Given the description of an element on the screen output the (x, y) to click on. 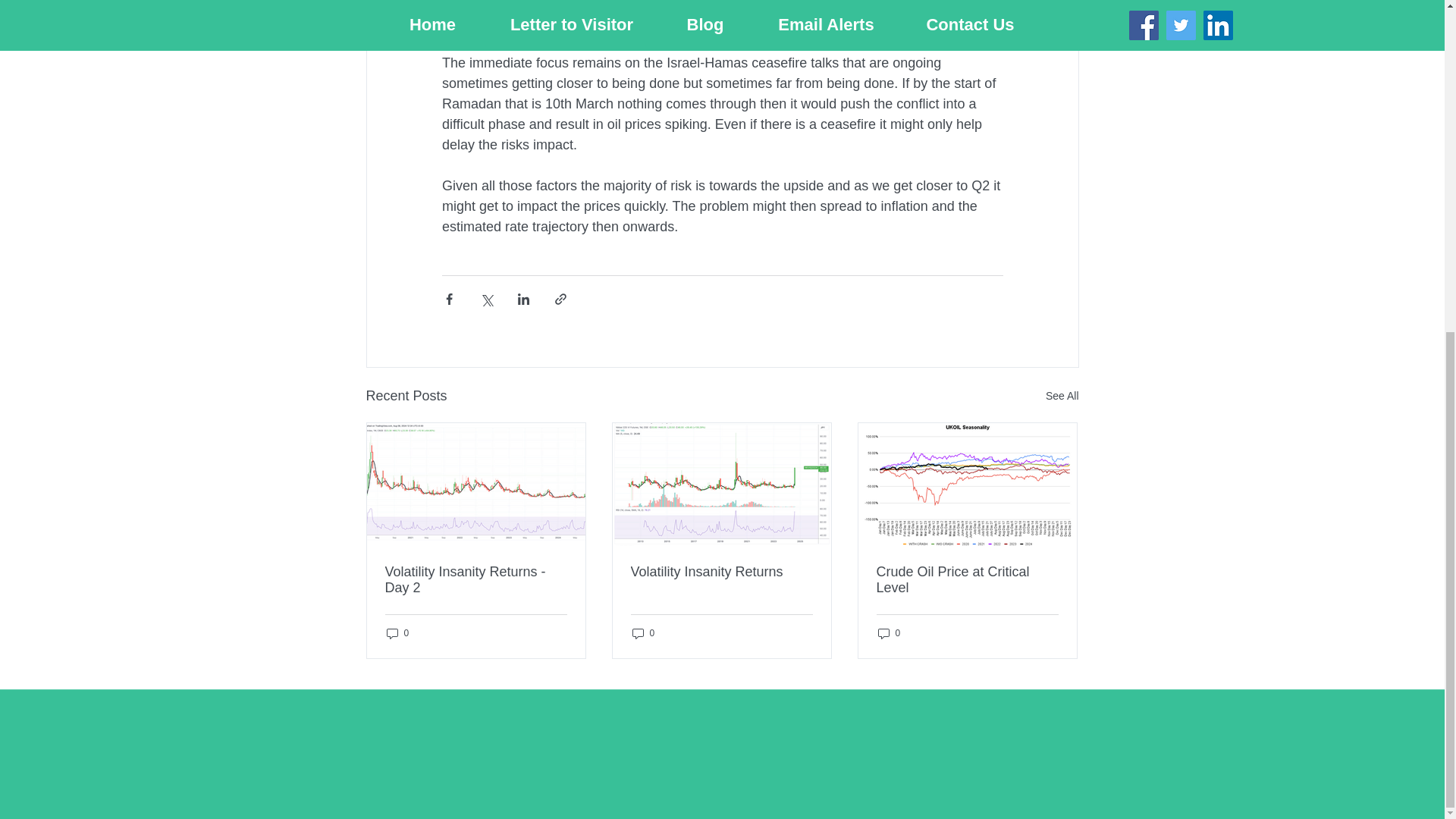
0 (643, 633)
Volatility Insanity Returns - Day 2 (476, 580)
Volatility Insanity Returns (721, 571)
0 (397, 633)
0 (889, 633)
Crude Oil Price at Critical Level (967, 580)
See All (1061, 395)
